Given the description of an element on the screen output the (x, y) to click on. 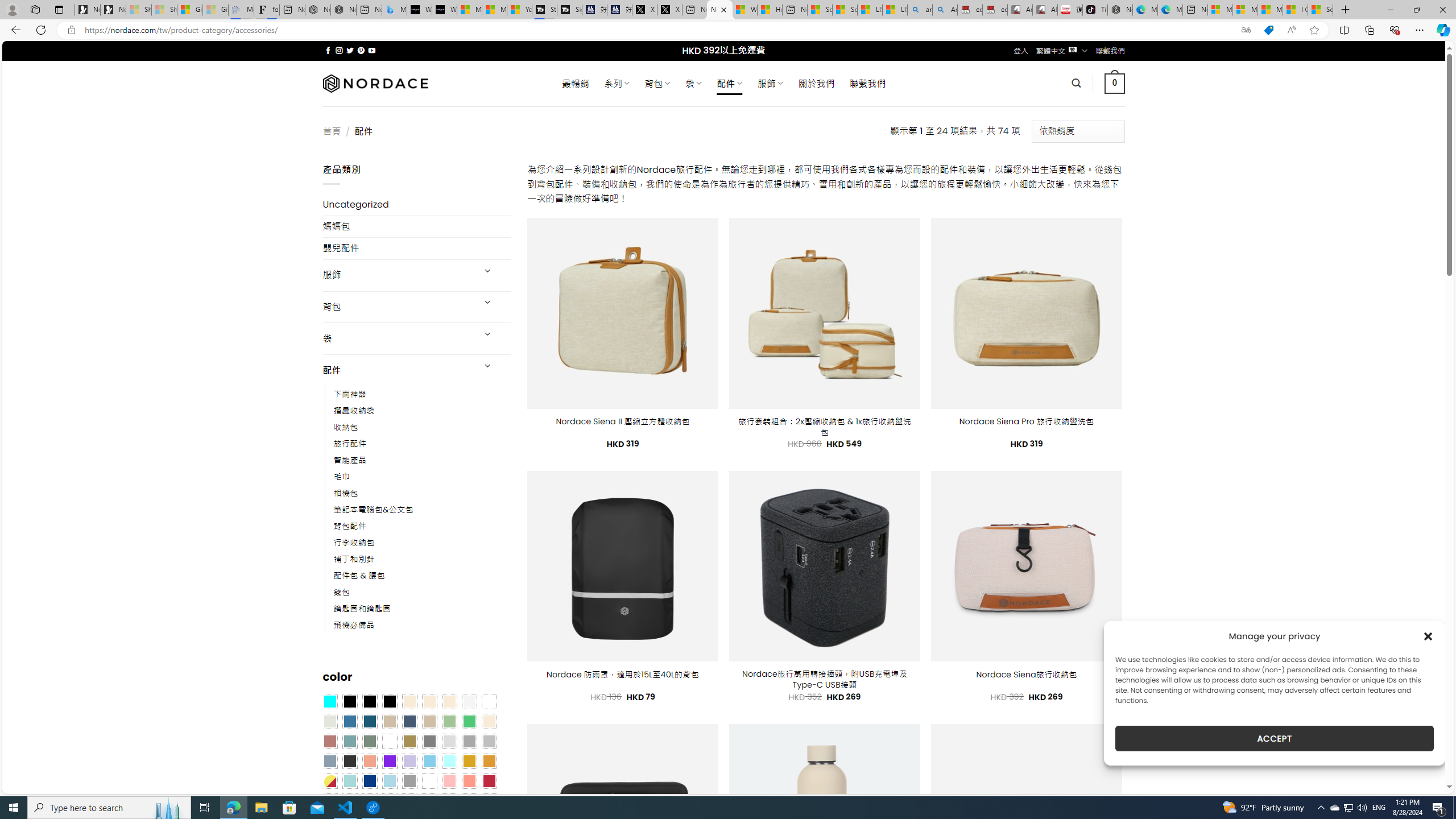
Class: cmplz-close (1428, 636)
